Given the description of an element on the screen output the (x, y) to click on. 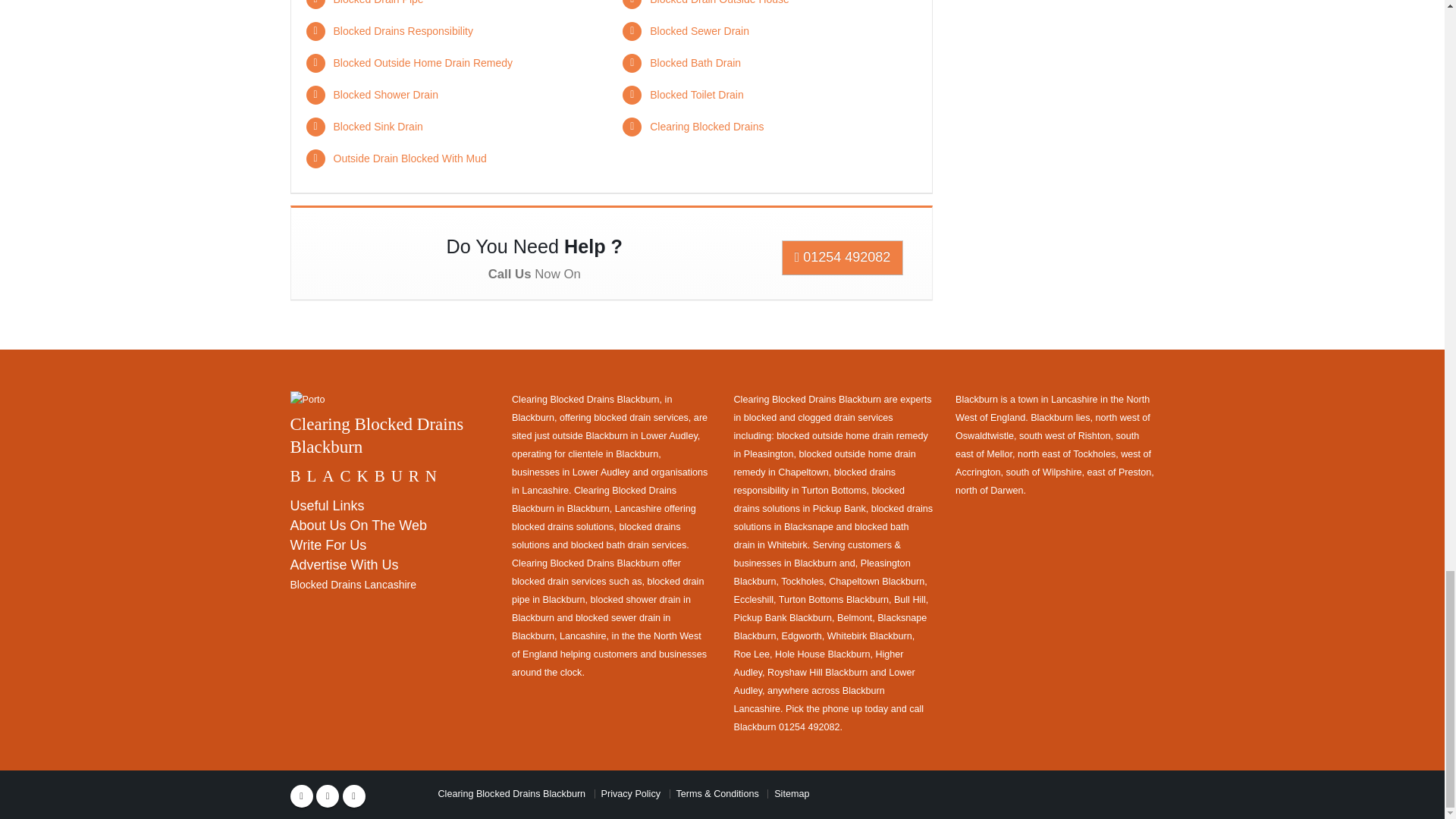
Blocked Toilet Drain (695, 94)
Blocked Shower Drain (386, 94)
Outside Drain Blocked With Mud (409, 158)
Linkedin (353, 795)
Blocked Outside Home Drain Remedy (423, 62)
Blocked Drain Pipe (378, 2)
Clearing Blocked Drains (705, 126)
Blocked Sink Drain (378, 126)
Blocked Drain Outside House (719, 2)
Twitter (327, 795)
